Given the description of an element on the screen output the (x, y) to click on. 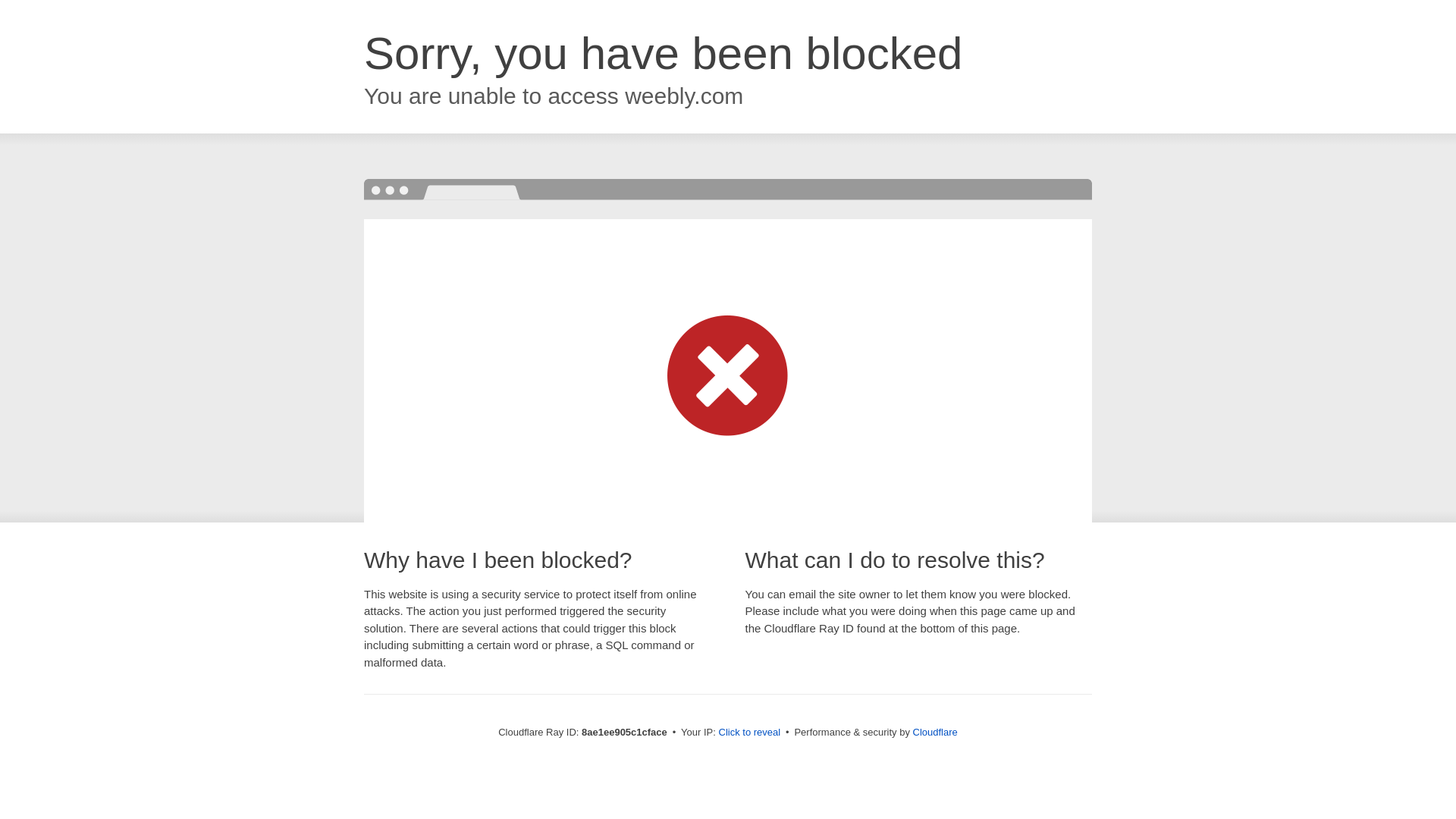
Click to reveal (749, 732)
Cloudflare (935, 731)
